Given the description of an element on the screen output the (x, y) to click on. 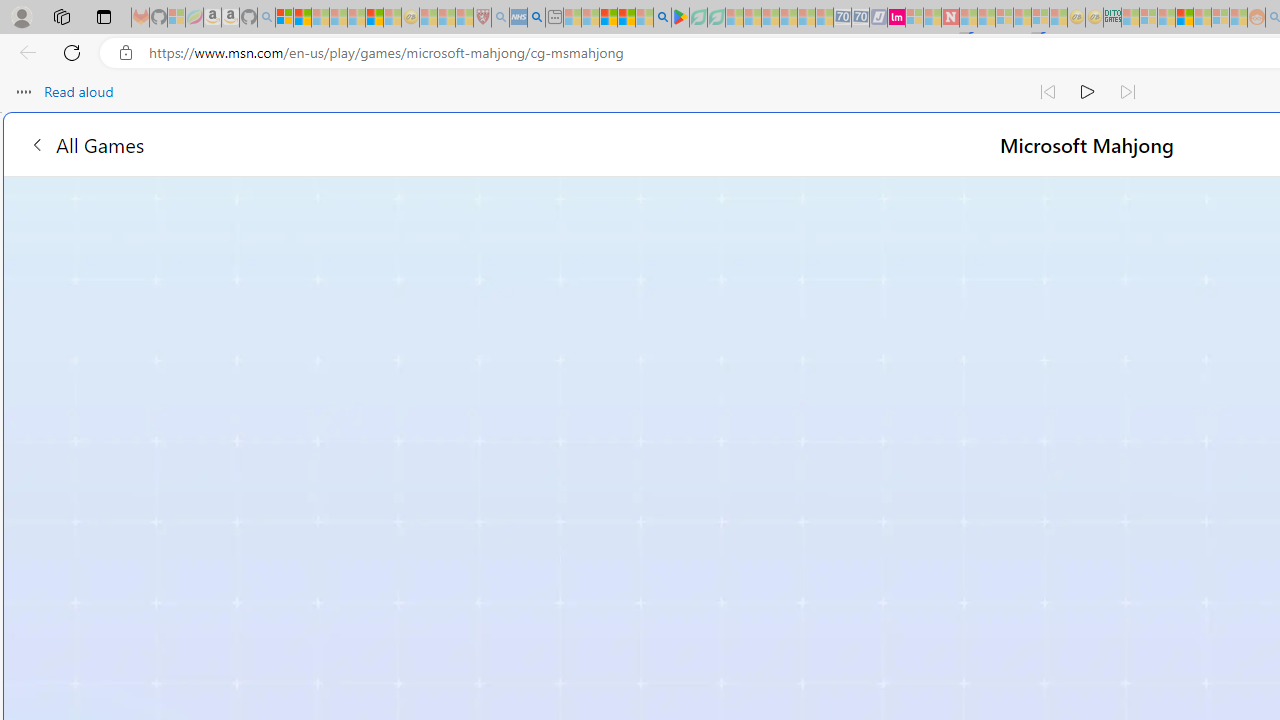
New Report Confirms 2023 Was Record Hot | Watch - Sleeping (356, 17)
google - Search (662, 17)
The Weather Channel - MSN - Sleeping (320, 17)
Pets - MSN (626, 17)
Local - MSN - Sleeping (464, 17)
Workspaces (61, 16)
NCL Adult Asthma Inhaler Choice Guideline - Sleeping (518, 17)
Tab actions menu (104, 16)
Refresh (72, 52)
MSNBC - MSN - Sleeping (1130, 17)
Bluey: Let's Play! - Apps on Google Play (680, 17)
Read previous paragraph (1047, 92)
